Given the description of an element on the screen output the (x, y) to click on. 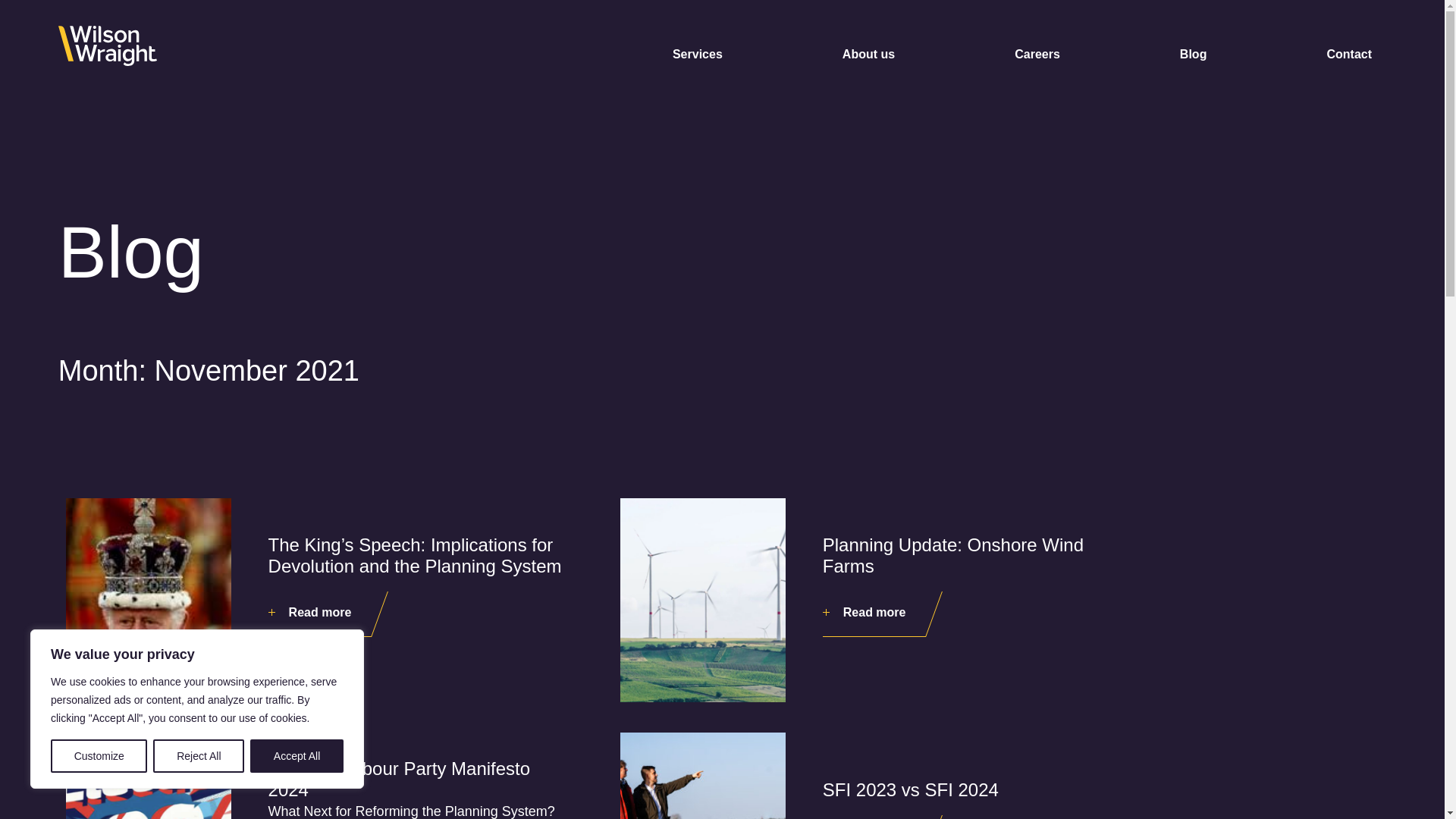
Accept All (296, 756)
Reject All (198, 756)
Services (697, 54)
Careers (1037, 54)
About us (868, 54)
Customize (98, 756)
